Given the description of an element on the screen output the (x, y) to click on. 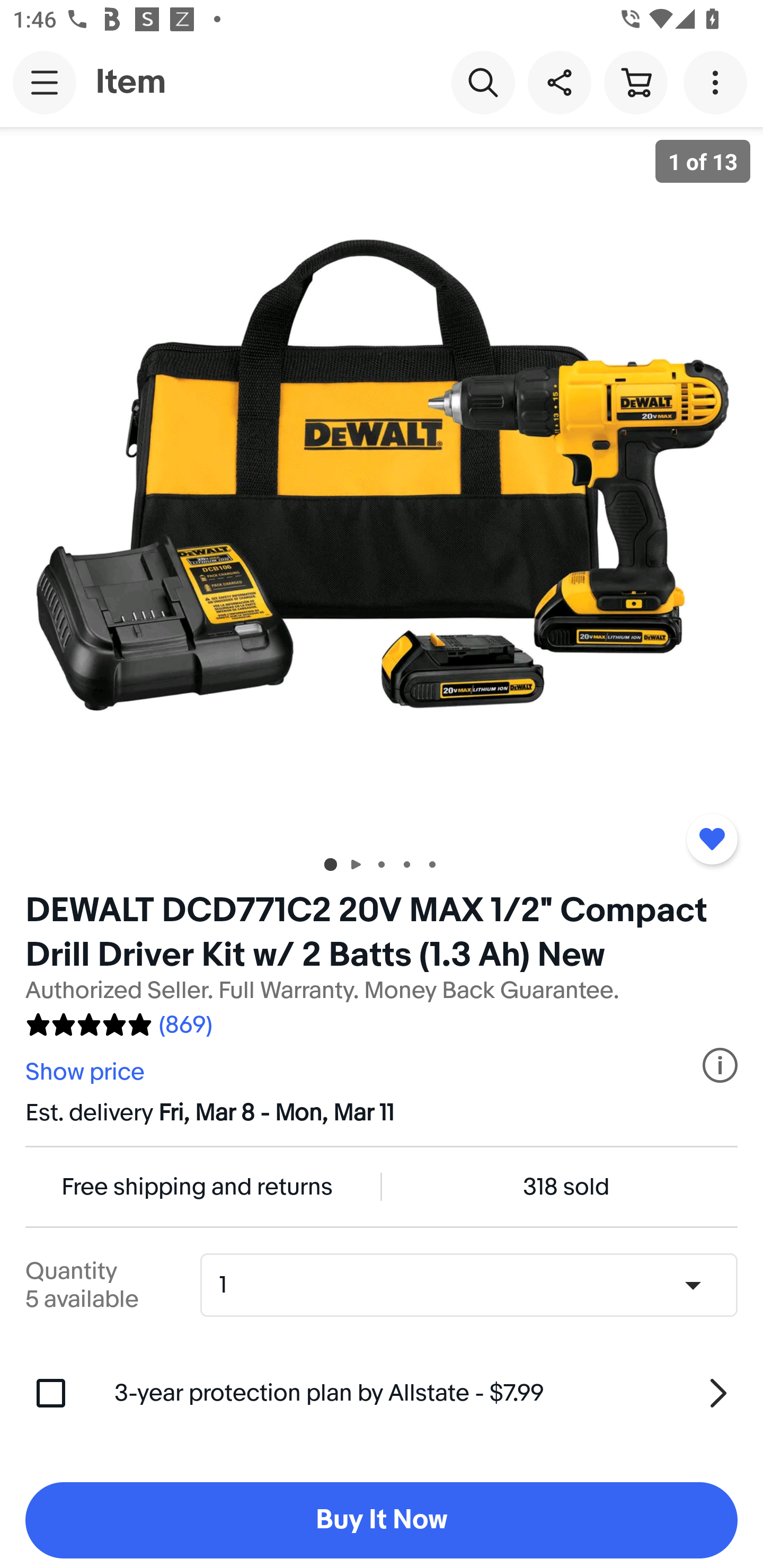
Main navigation, open (44, 82)
Search (482, 81)
Share this item (559, 81)
Cart button shopping cart (635, 81)
More options (718, 81)
Item image 1 of 13 (381, 482)
Added to watchlist (711, 838)
More information (719, 1065)
Show price (87, 1072)
Quantity,1,5 available 1 (474, 1284)
3-year protection plan by Allstate - $7.99 (425, 1392)
Buy It Now (381, 1519)
